Given the description of an element on the screen output the (x, y) to click on. 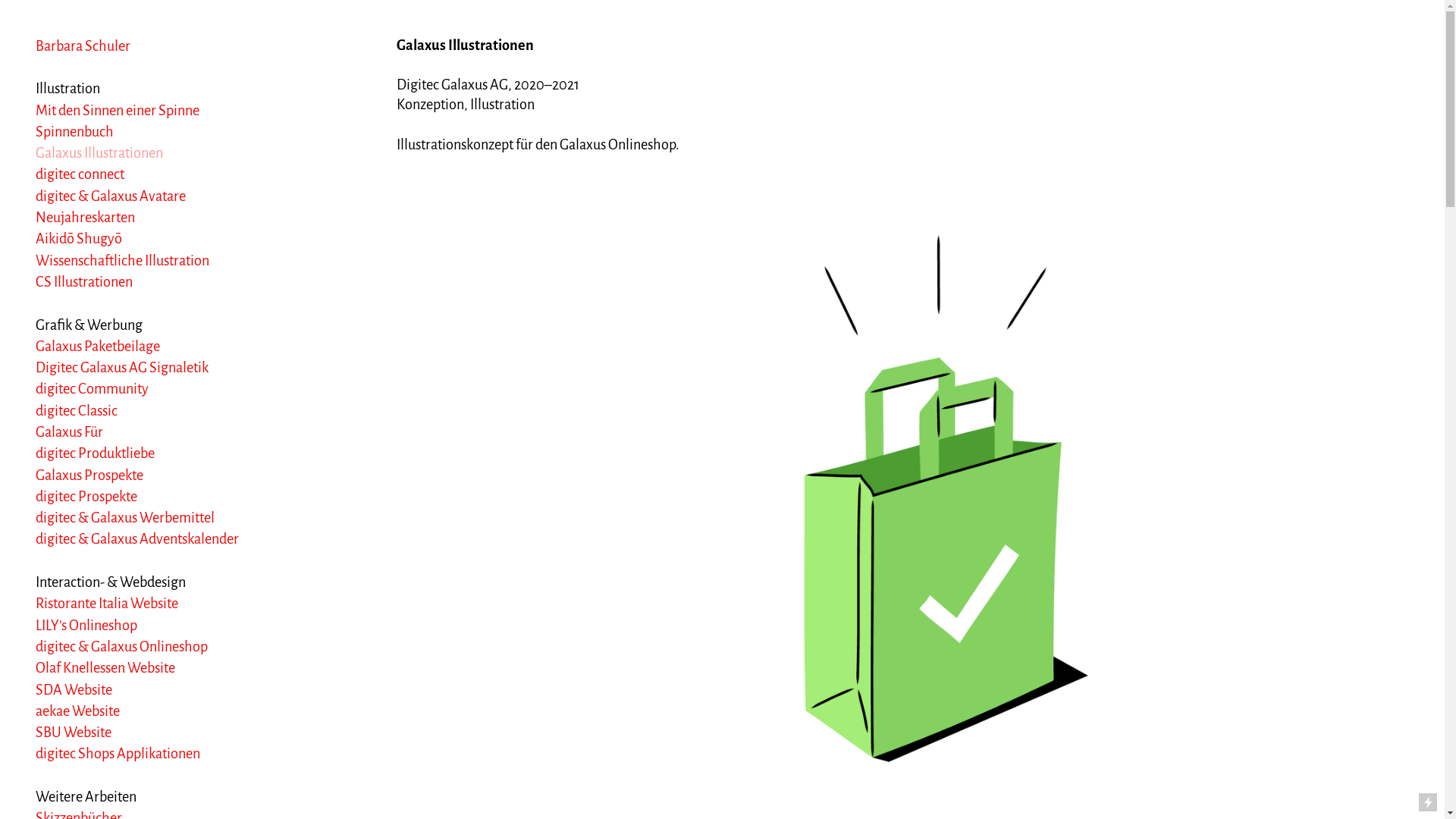
Wissenschaftliche Illustration Element type: text (122, 260)
digitec Shops Applikationen Element type: text (117, 753)
SDA Website Element type: text (73, 689)
Galaxus Prospekte Element type: text (89, 475)
digitec Community Element type: text (91, 388)
Barbara Schuler Element type: text (82, 45)
Olaf Knellessen Website Element type: text (105, 667)
digitec & Galaxus Avatare Element type: text (110, 195)
Neujahreskarten Element type: text (84, 217)
aekae Website Element type: text (77, 710)
Spinnenbuch Element type: text (74, 131)
digitec Prospekte Element type: text (86, 496)
Galaxus Illustrationen Element type: text (99, 152)
Ristorante Italia Website Element type: text (106, 603)
digitec connect Element type: text (79, 174)
CS Illustrationen Element type: text (83, 281)
digitec & Galaxus Onlineshop Element type: text (121, 646)
SBU Website Element type: text (73, 732)
Mit den Sinnen einer Spinne Element type: text (117, 110)
digitec Produktliebe Element type: text (94, 453)
Galaxus Paketbeilage Element type: text (97, 346)
digitec & Galaxus Adventskalender Element type: text (136, 538)
digitec Classic Element type: text (76, 410)
digitec & Galaxus Werbemittel Element type: text (124, 517)
Digitec Galaxus AG Signaletik Element type: text (121, 367)
